Given the description of an element on the screen output the (x, y) to click on. 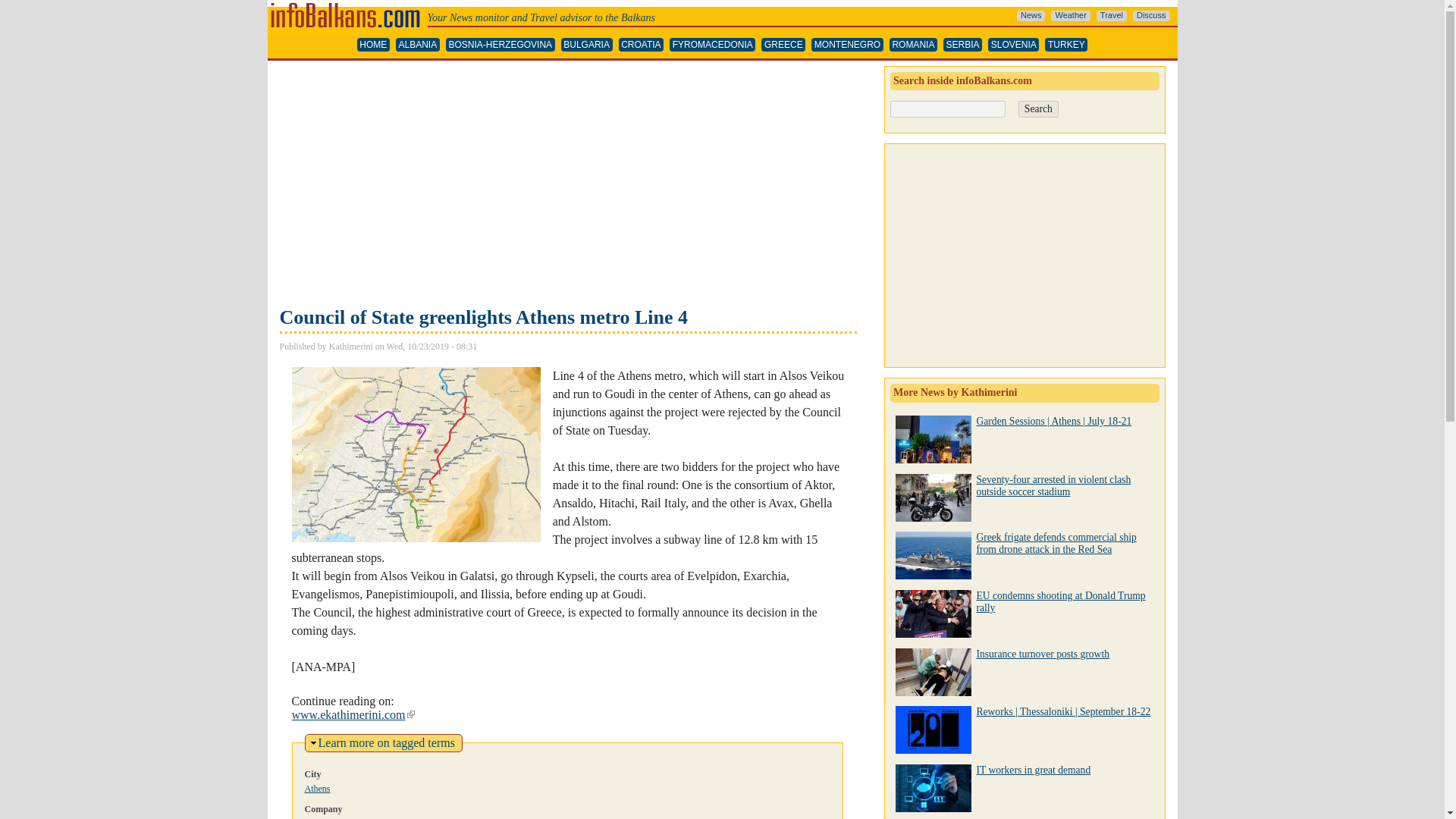
MONTENEGRO (846, 44)
FYROMACEDONIA (712, 44)
HOME (373, 44)
News (1030, 15)
Search (1037, 108)
ROMANIA (913, 44)
Travel (1111, 15)
CROATIA (640, 44)
Weather (1070, 15)
Advertisement (567, 184)
SLOVENIA (1013, 44)
Alstom (317, 818)
Hitachi (374, 818)
GREECE (783, 44)
BOSNIA-HERZEGOVINA (499, 44)
